Given the description of an element on the screen output the (x, y) to click on. 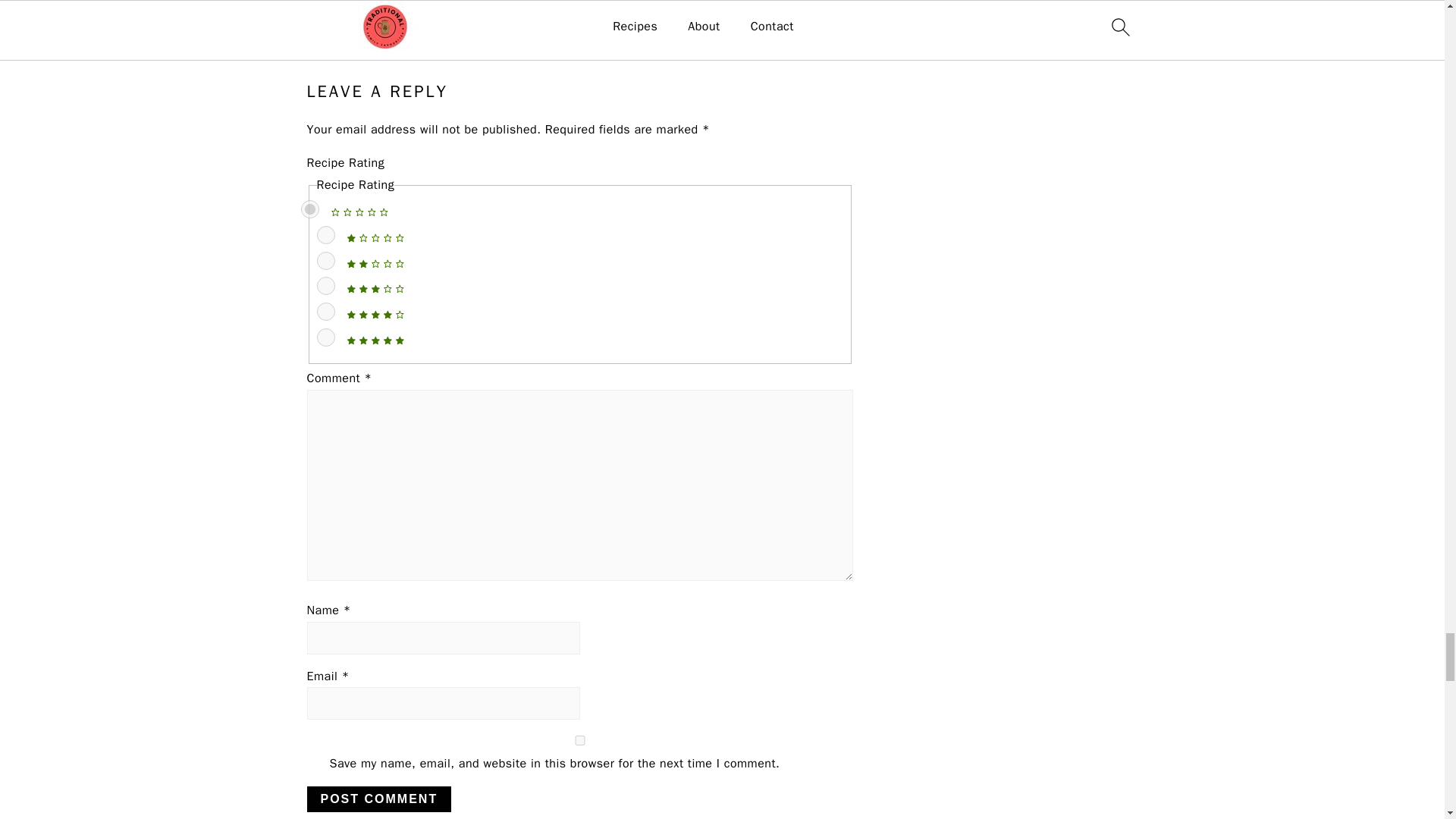
4 (325, 311)
1 (325, 235)
2 (325, 260)
5 (325, 337)
Post Comment (378, 799)
3 (325, 285)
yes (578, 740)
0 (308, 208)
